Given the description of an element on the screen output the (x, y) to click on. 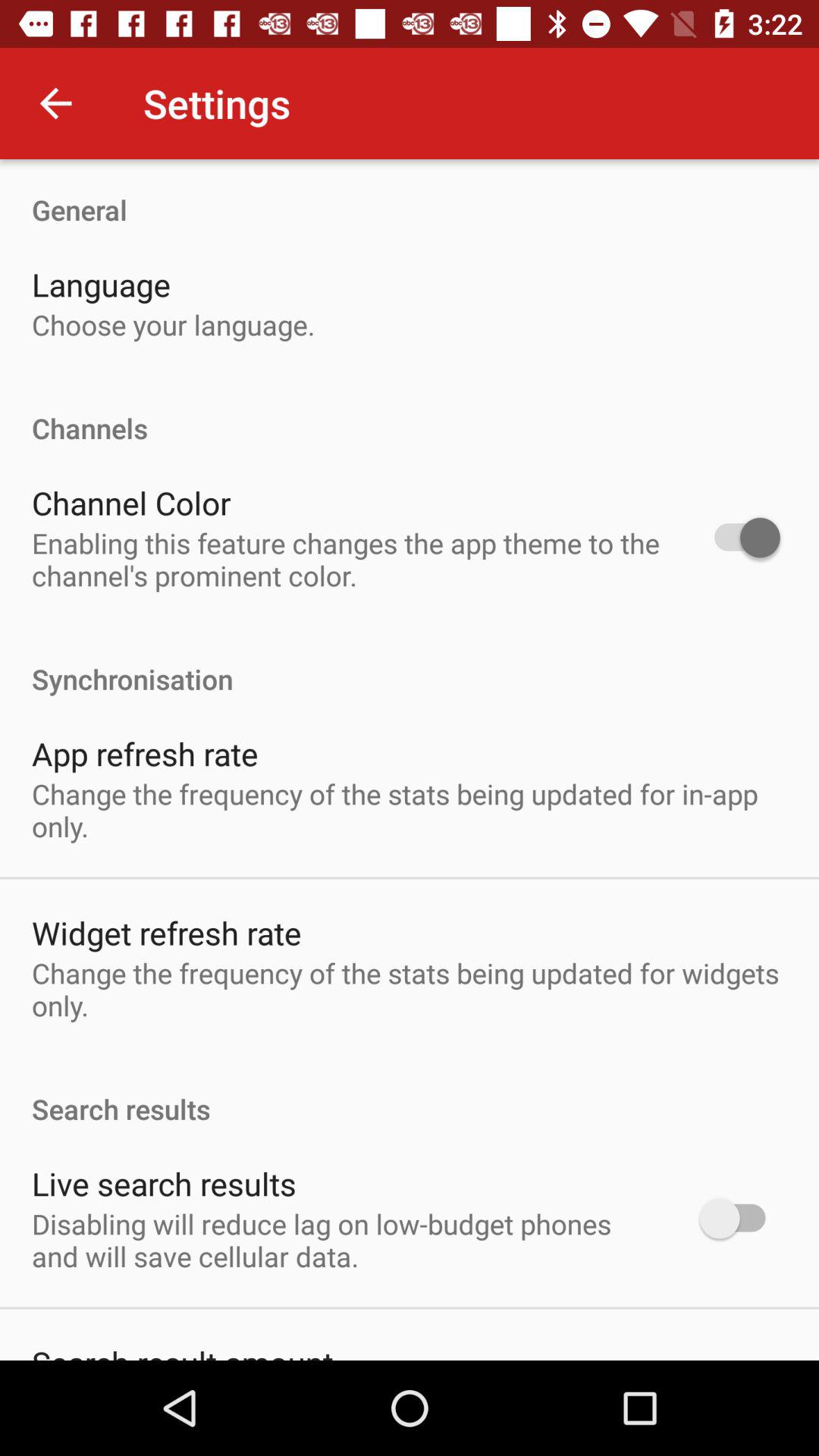
click icon above the channel color item (409, 412)
